Given the description of an element on the screen output the (x, y) to click on. 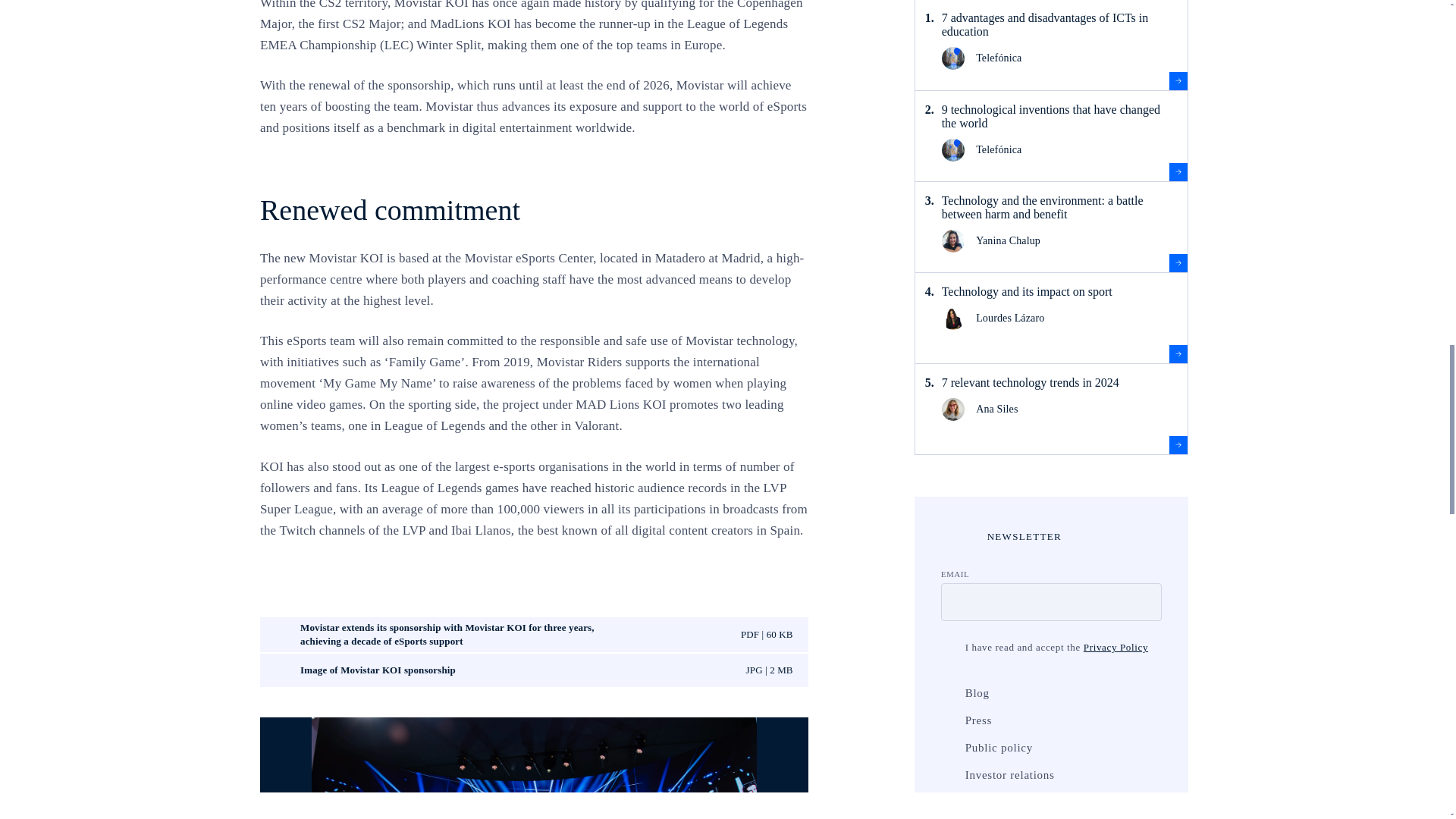
Press (948, 720)
Investor relations (948, 774)
Shareholder's area (948, 801)
Public policy (948, 747)
Blog (948, 693)
on (948, 647)
